Given the description of an element on the screen output the (x, y) to click on. 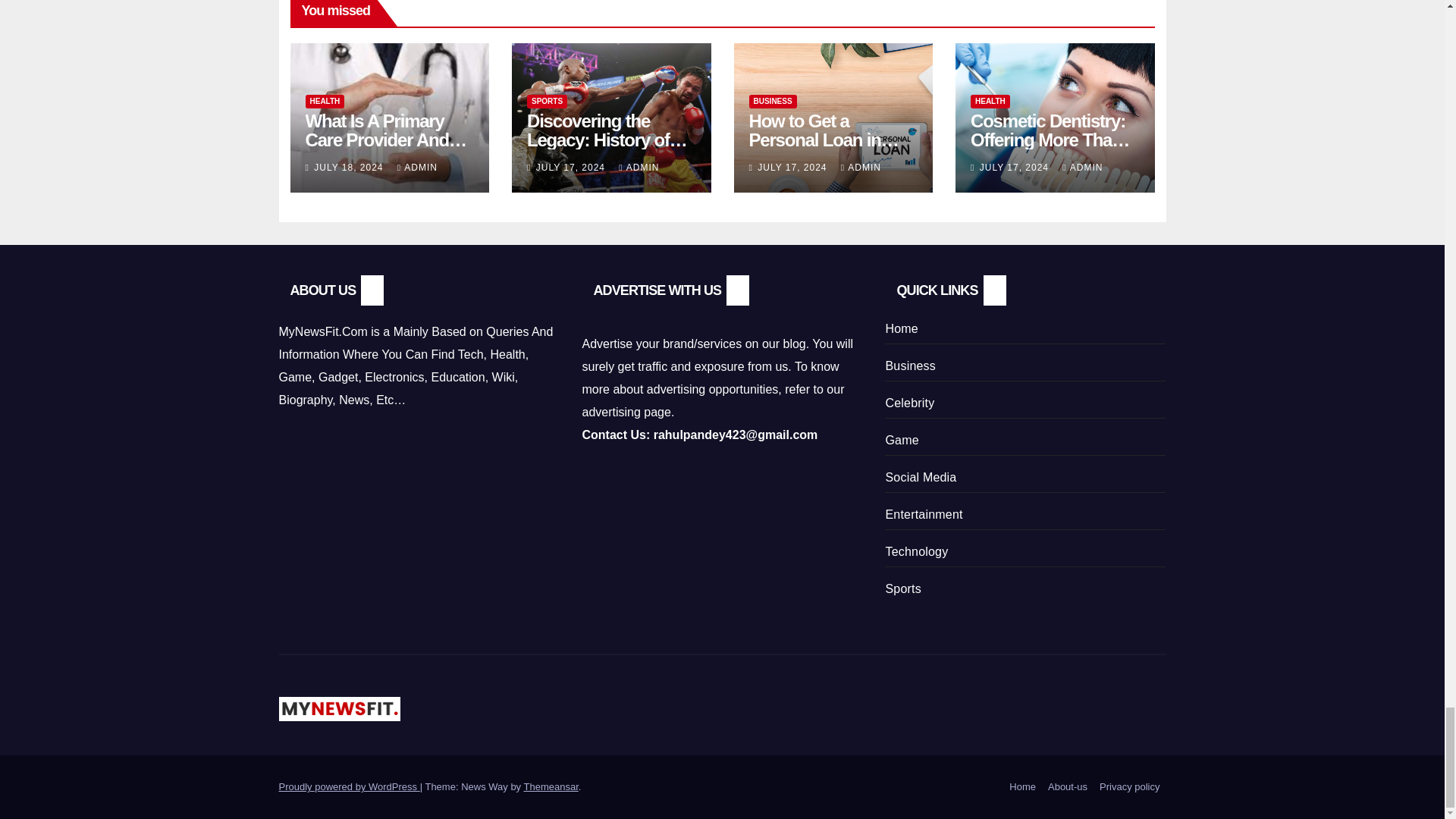
Permalink to: Discovering the Legacy: History of Boxing EN (607, 139)
